Given the description of an element on the screen output the (x, y) to click on. 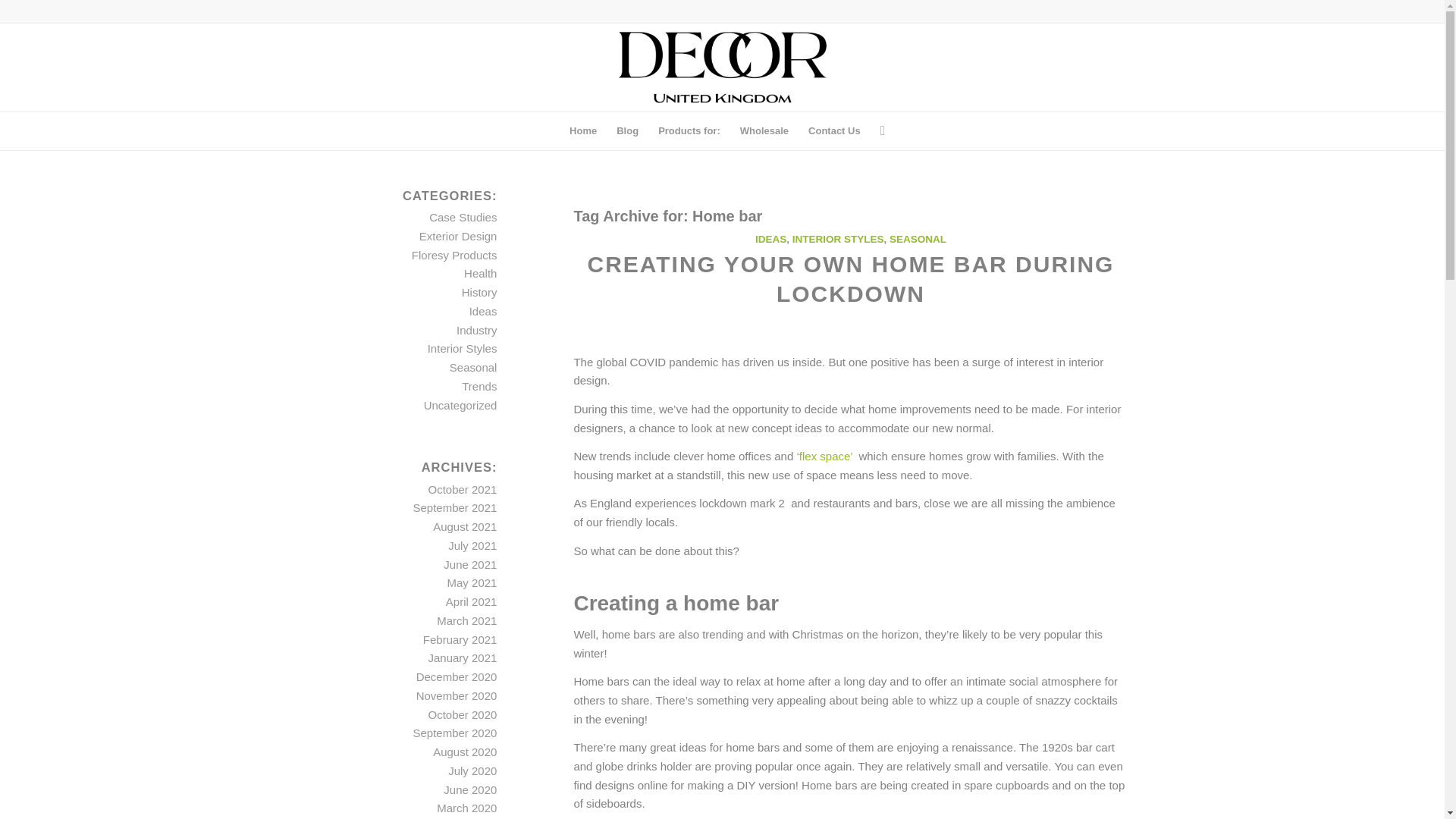
Permanent Link: Creating Your Own Home Bar During Lockdown (849, 278)
Uncategorized (460, 404)
Products for: (688, 130)
SEASONAL (917, 238)
Interior Styles (462, 348)
Floresy Products (454, 254)
February 2021 (460, 639)
Health (480, 273)
January 2021 (462, 657)
Blog (627, 130)
June 2021 (470, 563)
Exterior Design (458, 236)
May 2021 (471, 582)
Wholesale (763, 130)
IDEAS (770, 238)
